Given the description of an element on the screen output the (x, y) to click on. 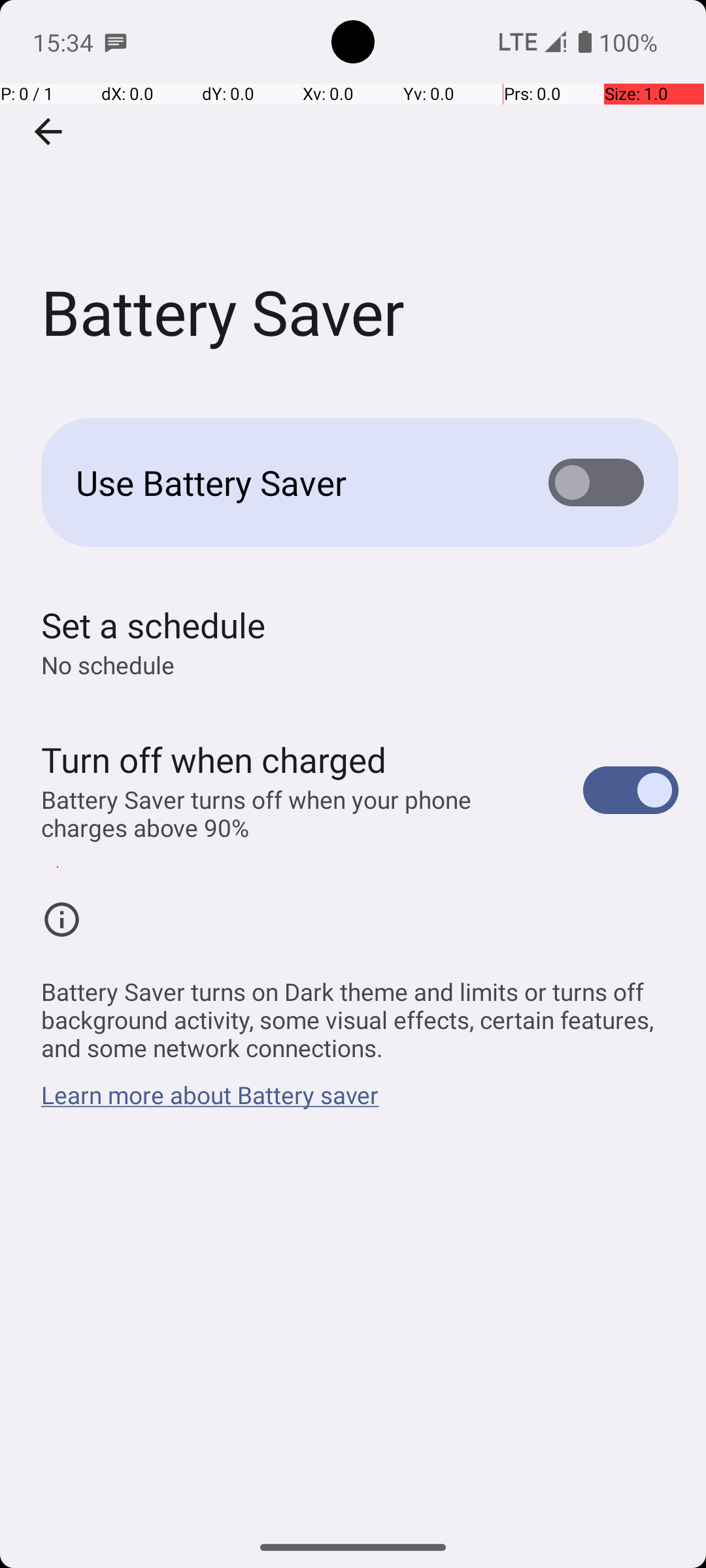
Use Battery Saver Element type: android.widget.TextView (291, 482)
Turn off when charged Element type: android.widget.TextView (213, 759)
Battery Saver turns off when your phone charges above 90% Element type: android.widget.TextView (298, 813)
Battery Saver turns on Dark theme and limits or turns off background activity, some visual effects, certain features, and some network connections. Element type: android.widget.TextView (359, 1012)
Learn more about Battery saver Element type: android.widget.TextView (210, 1101)
